Given the description of an element on the screen output the (x, y) to click on. 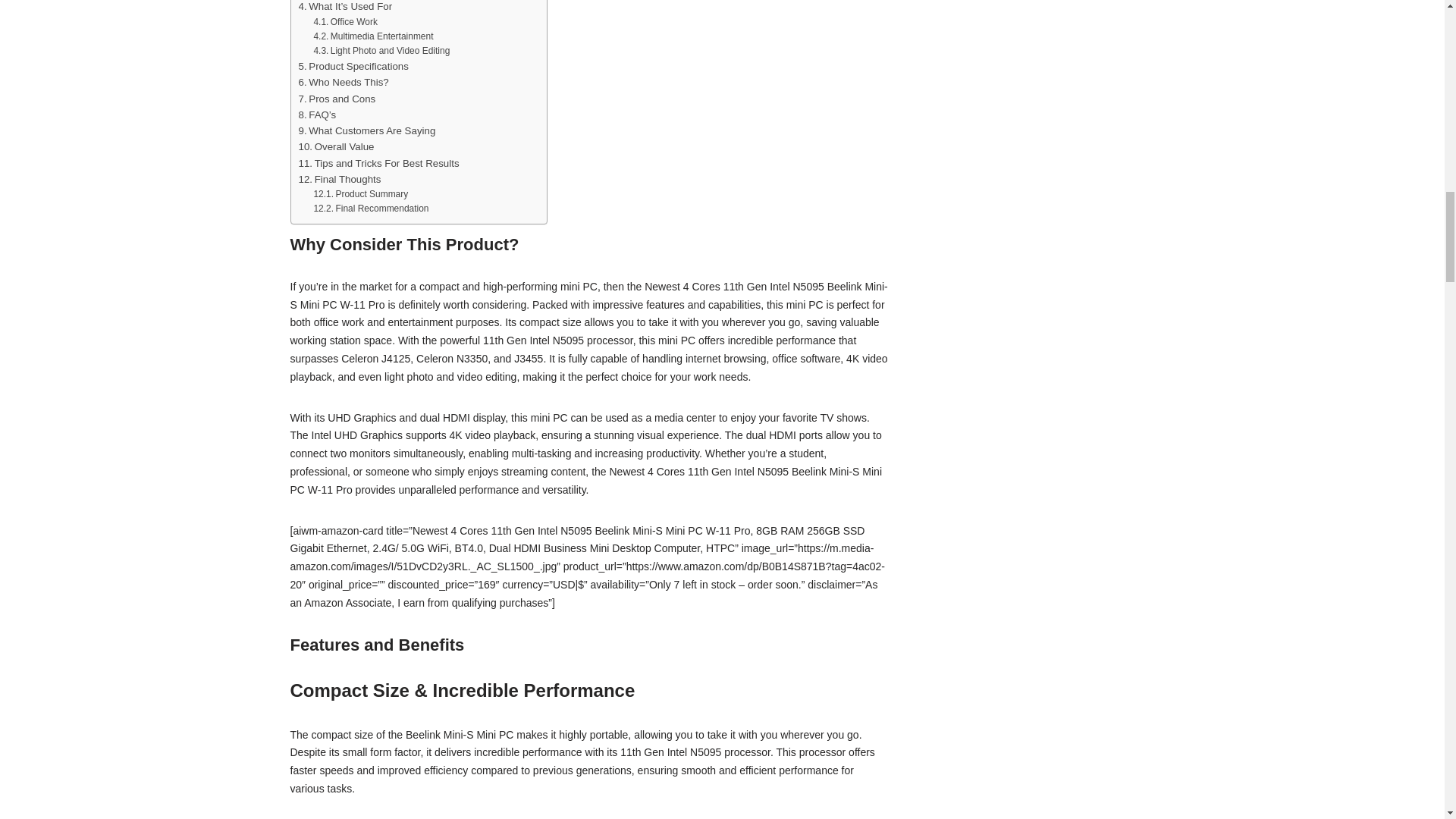
Product Specifications (353, 66)
Pros and Cons (336, 98)
Multimedia Entertainment (372, 36)
Who Needs This? (343, 82)
Light Photo and Video Editing (381, 51)
Office Work (345, 22)
